Given the description of an element on the screen output the (x, y) to click on. 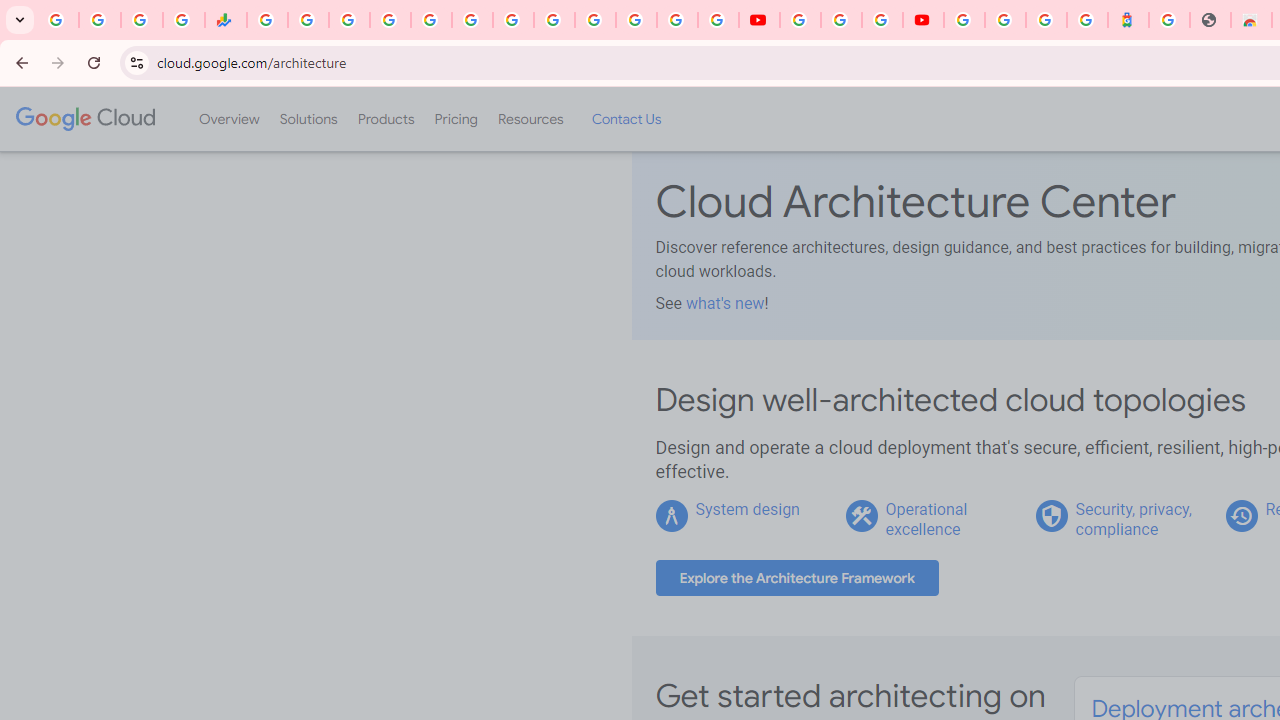
Google Cloud (84, 118)
Solutions (308, 119)
Security, privacy, compliance (1133, 519)
Google Account Help (840, 20)
YouTube (553, 20)
Android TV Policies and Guidelines - Transparency Center (512, 20)
Contact Us (626, 119)
